Given the description of an element on the screen output the (x, y) to click on. 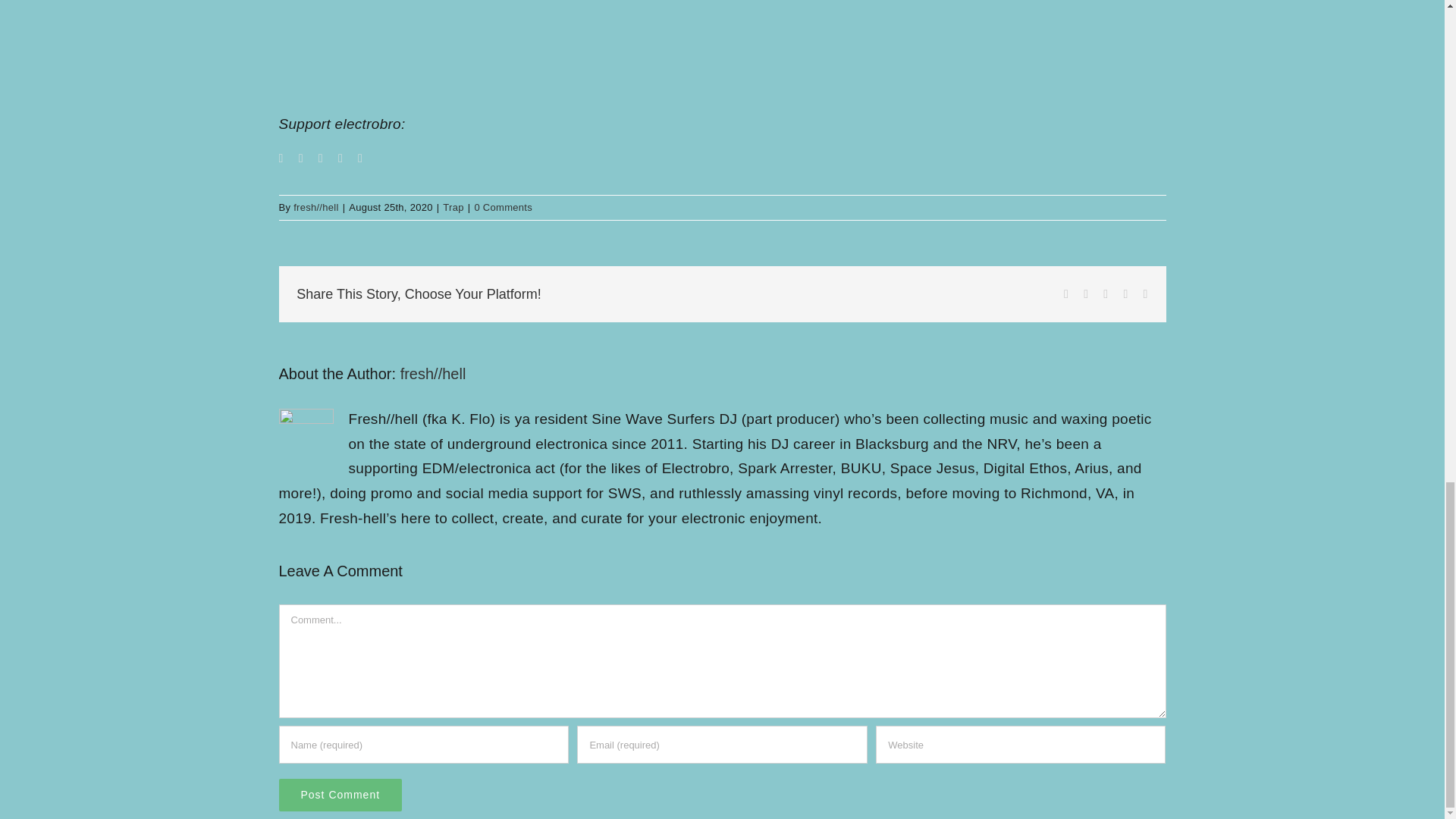
soundcloud (722, 52)
Twitter (1085, 294)
Facebook (281, 158)
Twitter (300, 158)
Tumblr (1124, 294)
Reddit (1105, 294)
Post Comment (341, 794)
Twitter (1085, 294)
Facebook (1066, 294)
0 Comments (503, 206)
Trap (452, 206)
Email (1145, 294)
Twitch (339, 158)
Reddit (1105, 294)
Instagram (320, 158)
